Given the description of an element on the screen output the (x, y) to click on. 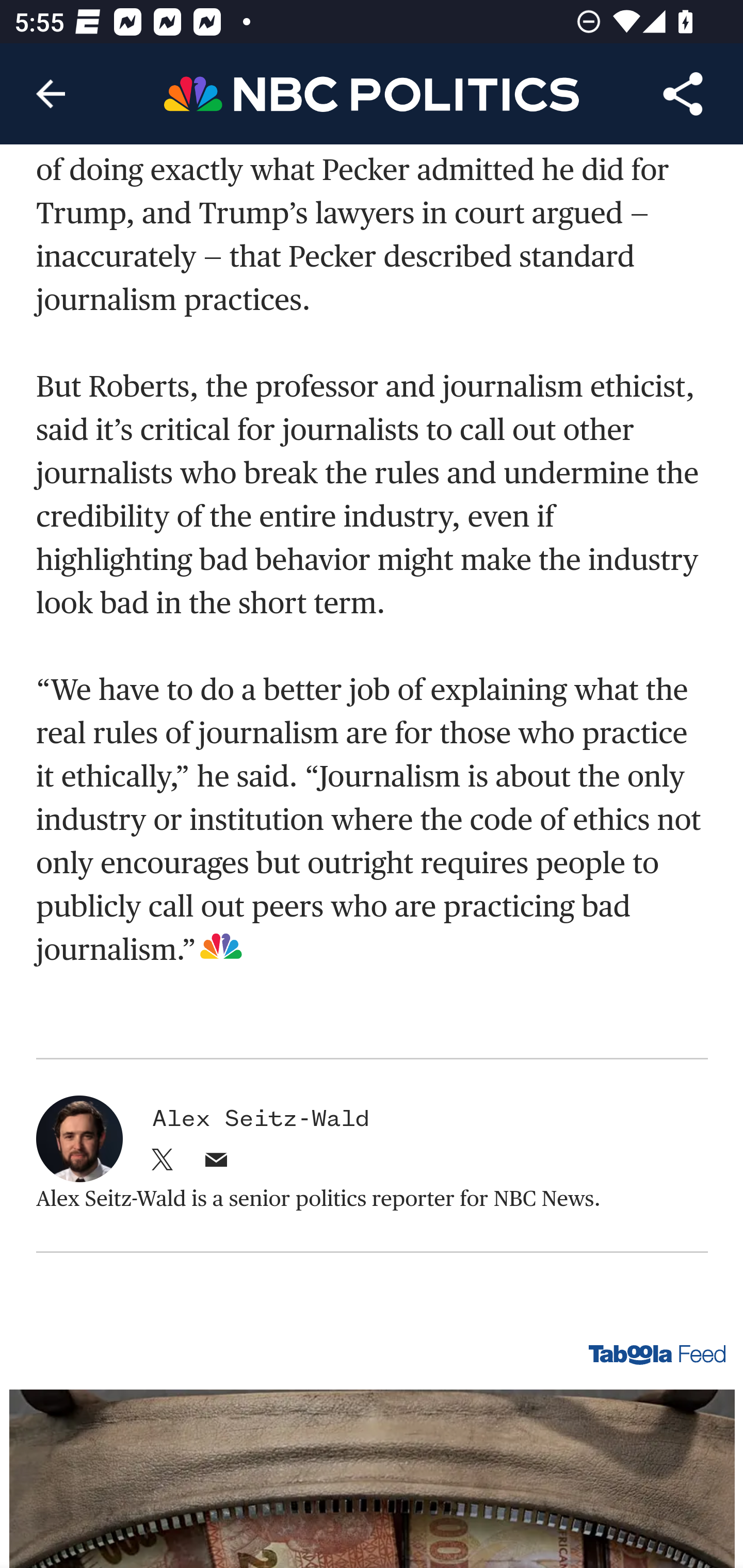
Navigate up (50, 93)
Share Article, button (683, 94)
Header, NBC Politics (371, 93)
alex-seitz-wald-ncpn385646 (79, 1139)
Alex Seitz-Wald (260, 1120)
 (162, 1166)
 (215, 1166)
